Given the description of an element on the screen output the (x, y) to click on. 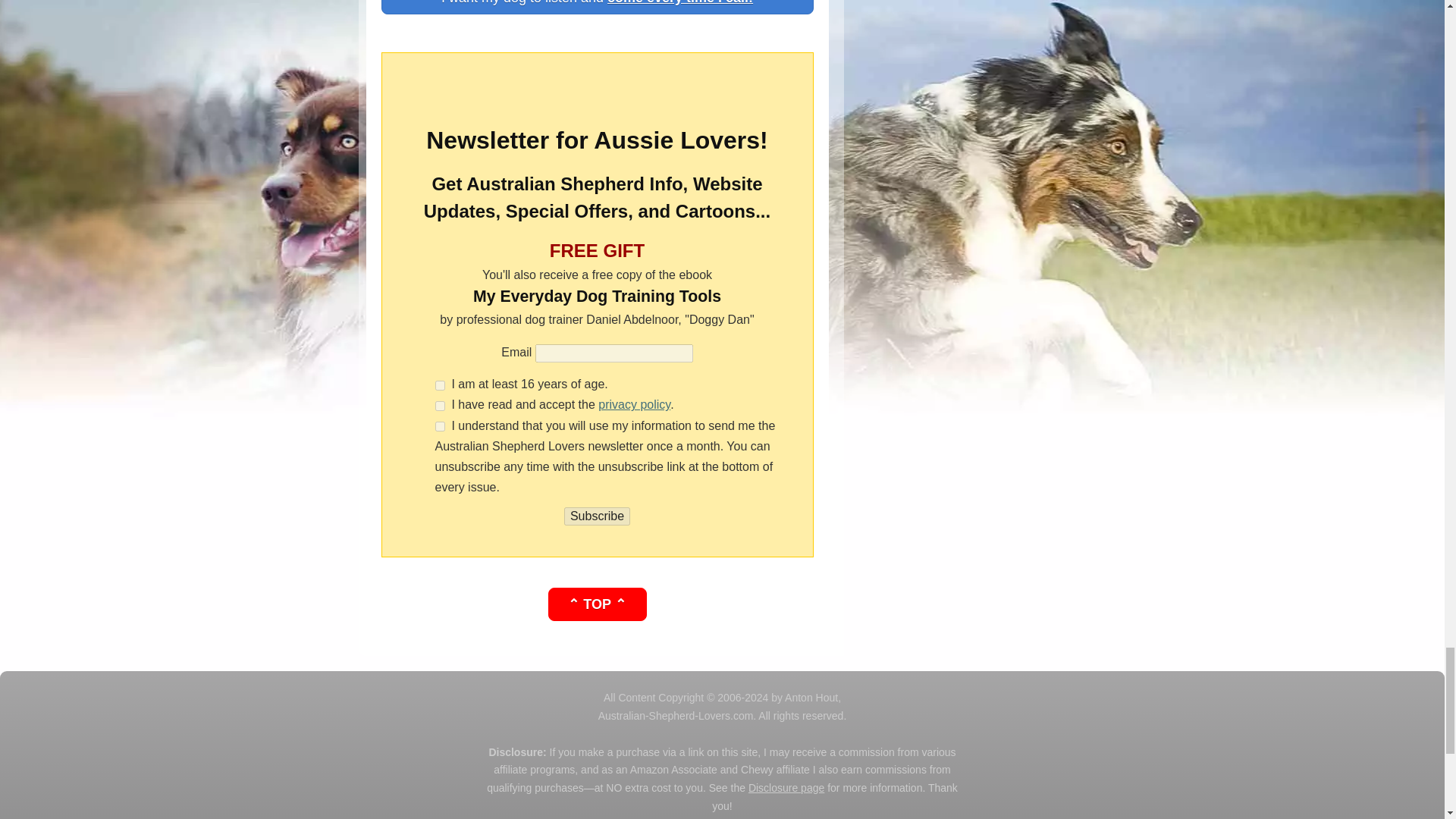
Back to Top (596, 604)
on (440, 385)
on (440, 406)
on (440, 426)
